Given the description of an element on the screen output the (x, y) to click on. 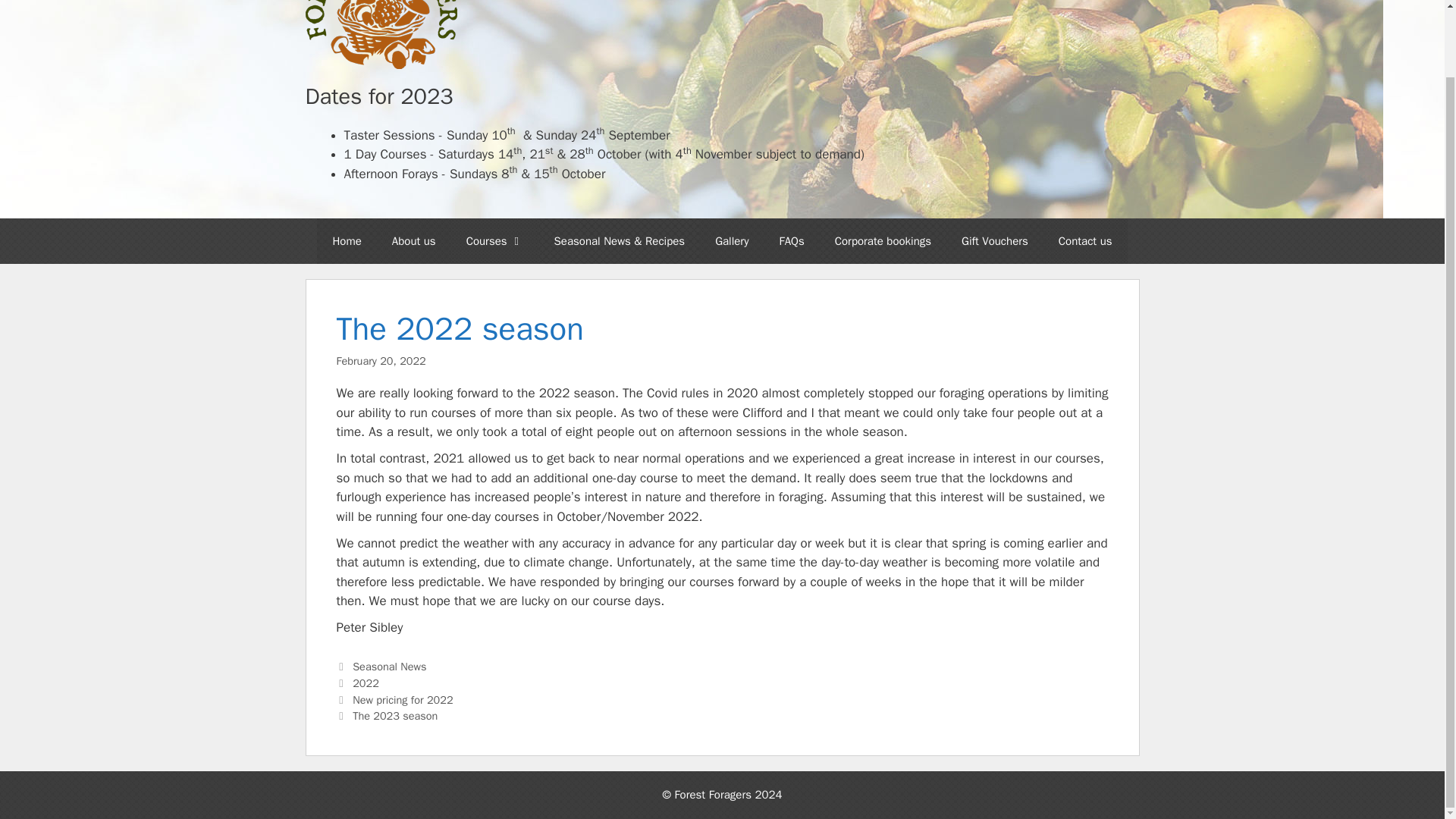
New pricing for 2022 (402, 699)
Gift Vouchers (994, 240)
Previous (394, 699)
2022 (365, 683)
Gallery (731, 240)
Contact us (1084, 240)
Forest Foragers (380, 34)
Home (346, 240)
Next (387, 715)
Corporate bookings (882, 240)
About us (414, 240)
Seasonal News (389, 666)
FAQs (790, 240)
Courses (494, 240)
Forest Foragers (380, 6)
